Given the description of an element on the screen output the (x, y) to click on. 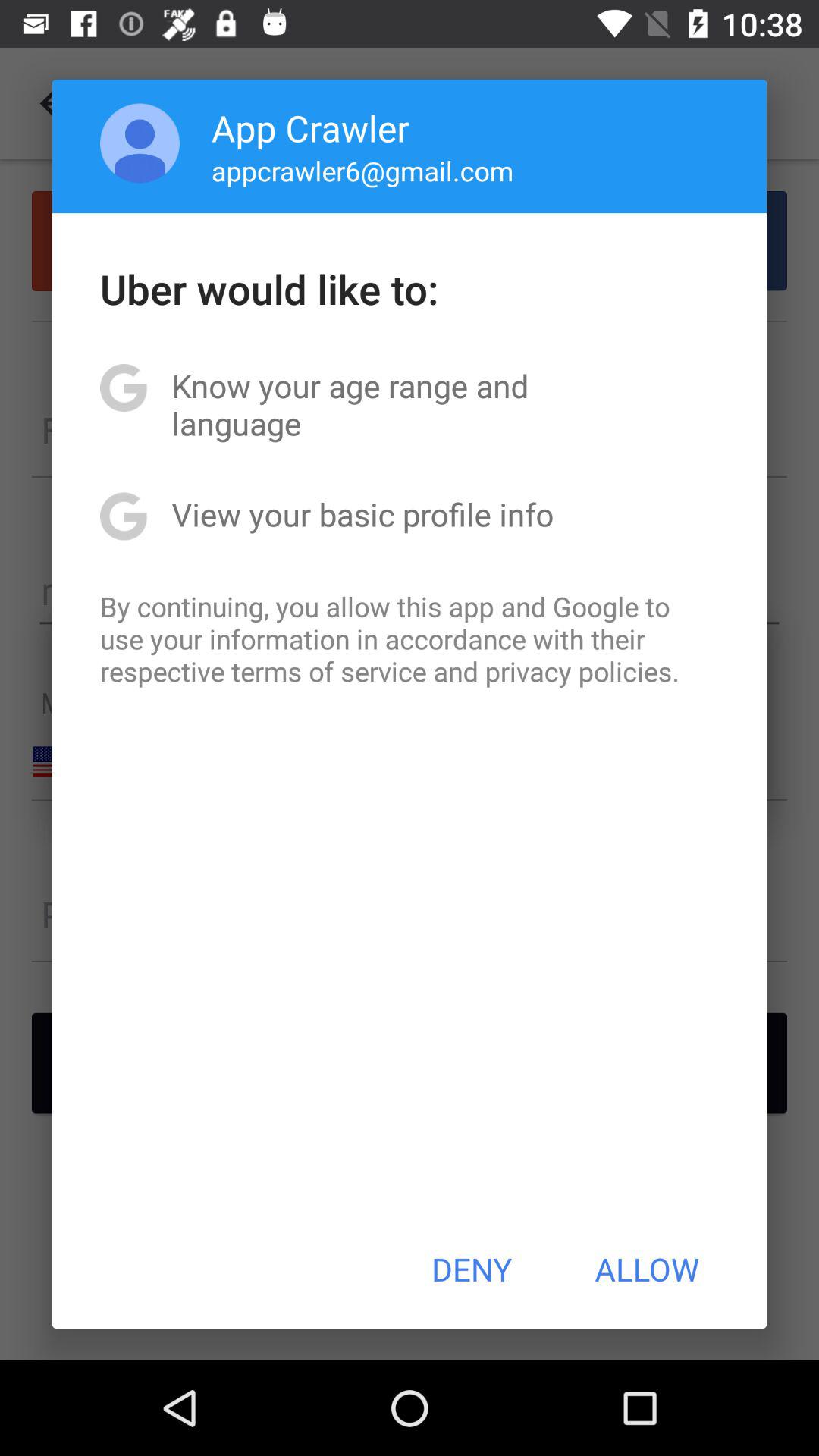
click the app below the know your age item (362, 513)
